Given the description of an element on the screen output the (x, y) to click on. 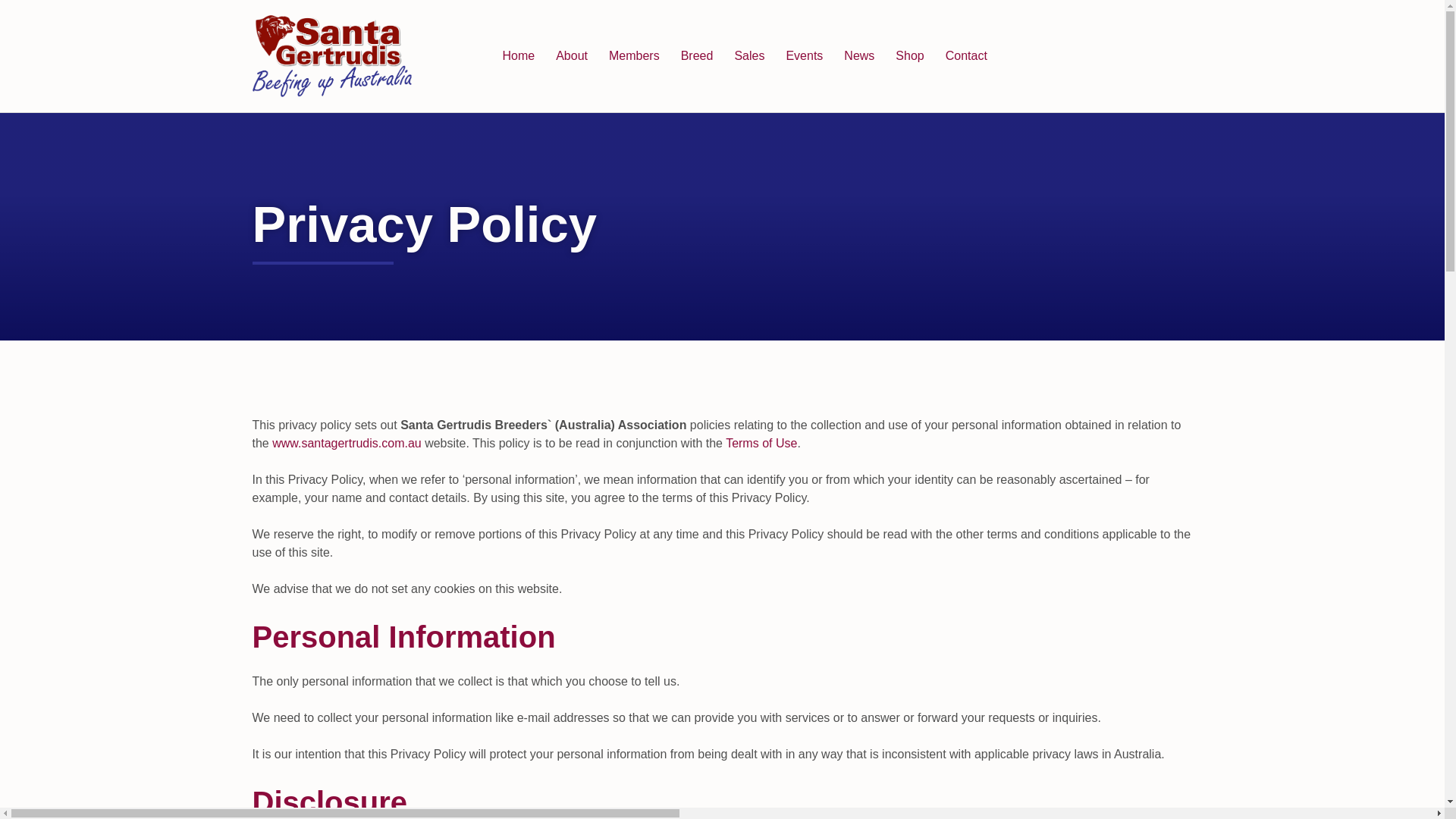
Events (803, 55)
Sales (748, 55)
About (571, 55)
Members (633, 55)
Shop (909, 55)
Breed (696, 55)
Home (518, 55)
News (858, 55)
